Given the description of an element on the screen output the (x, y) to click on. 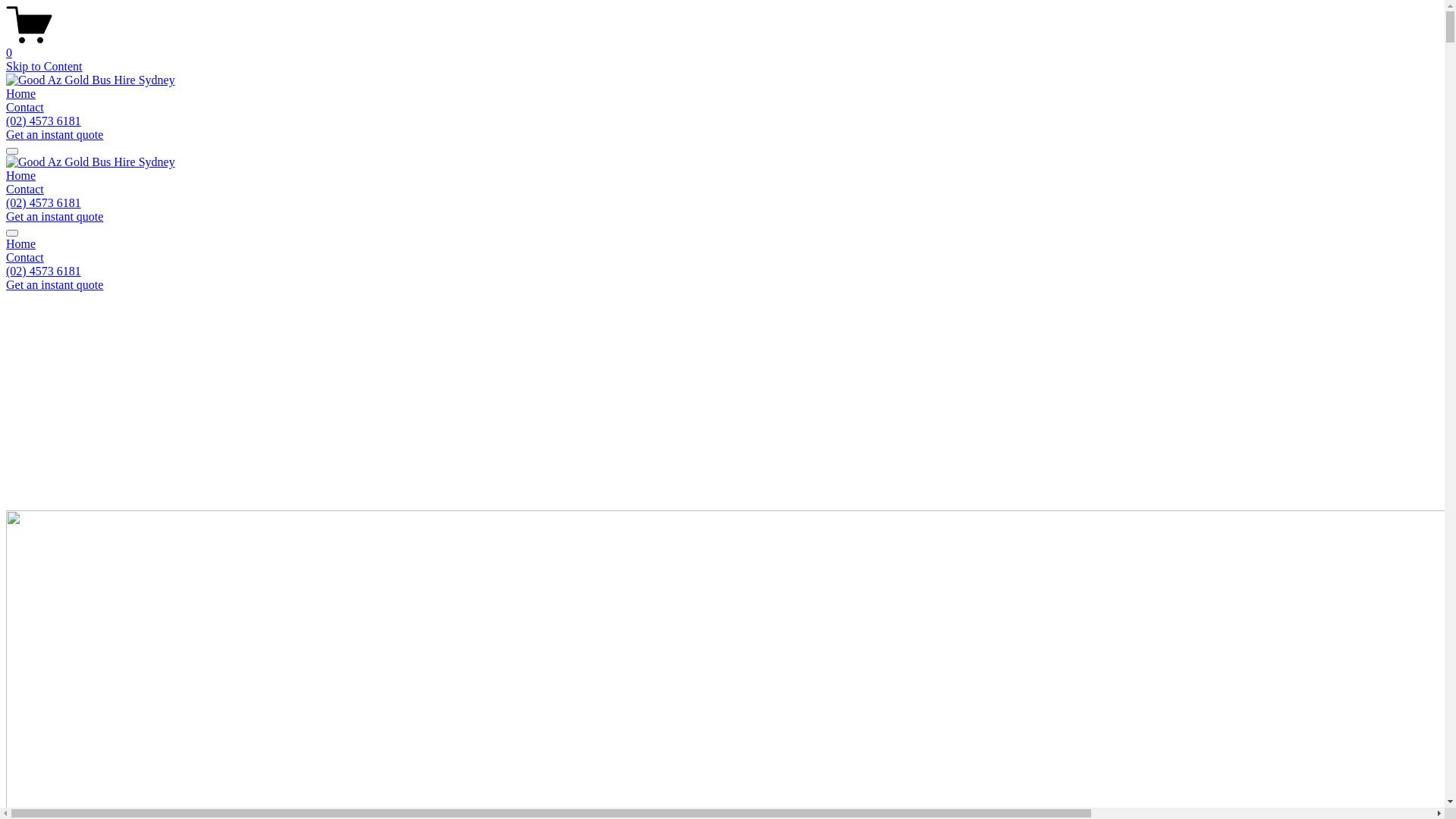
(02) 4573 6181 Element type: text (43, 120)
Get an instant quote Element type: text (54, 134)
Contact Element type: text (722, 257)
Contact Element type: text (24, 106)
Contact Element type: text (24, 188)
(02) 4573 6181 Element type: text (43, 202)
Skip to Content Element type: text (43, 65)
Get an instant quote Element type: text (54, 284)
0 Element type: text (722, 45)
Home Element type: text (722, 244)
Get an instant quote Element type: text (54, 216)
Home Element type: text (20, 175)
(02) 4573 6181 Element type: text (43, 270)
Home Element type: text (20, 93)
